Given the description of an element on the screen output the (x, y) to click on. 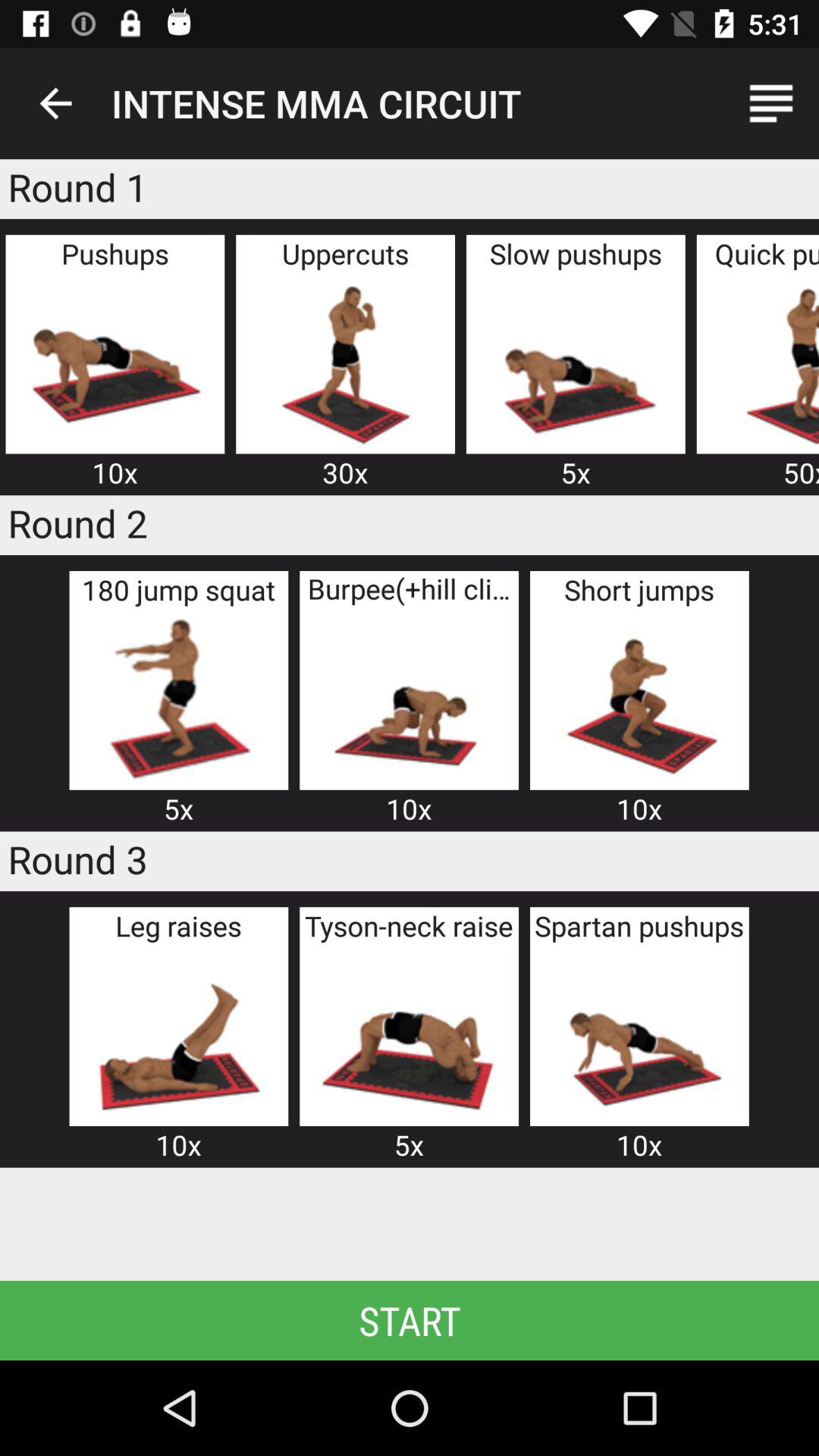
tyson-neck raise exercise icon (408, 1034)
